Given the description of an element on the screen output the (x, y) to click on. 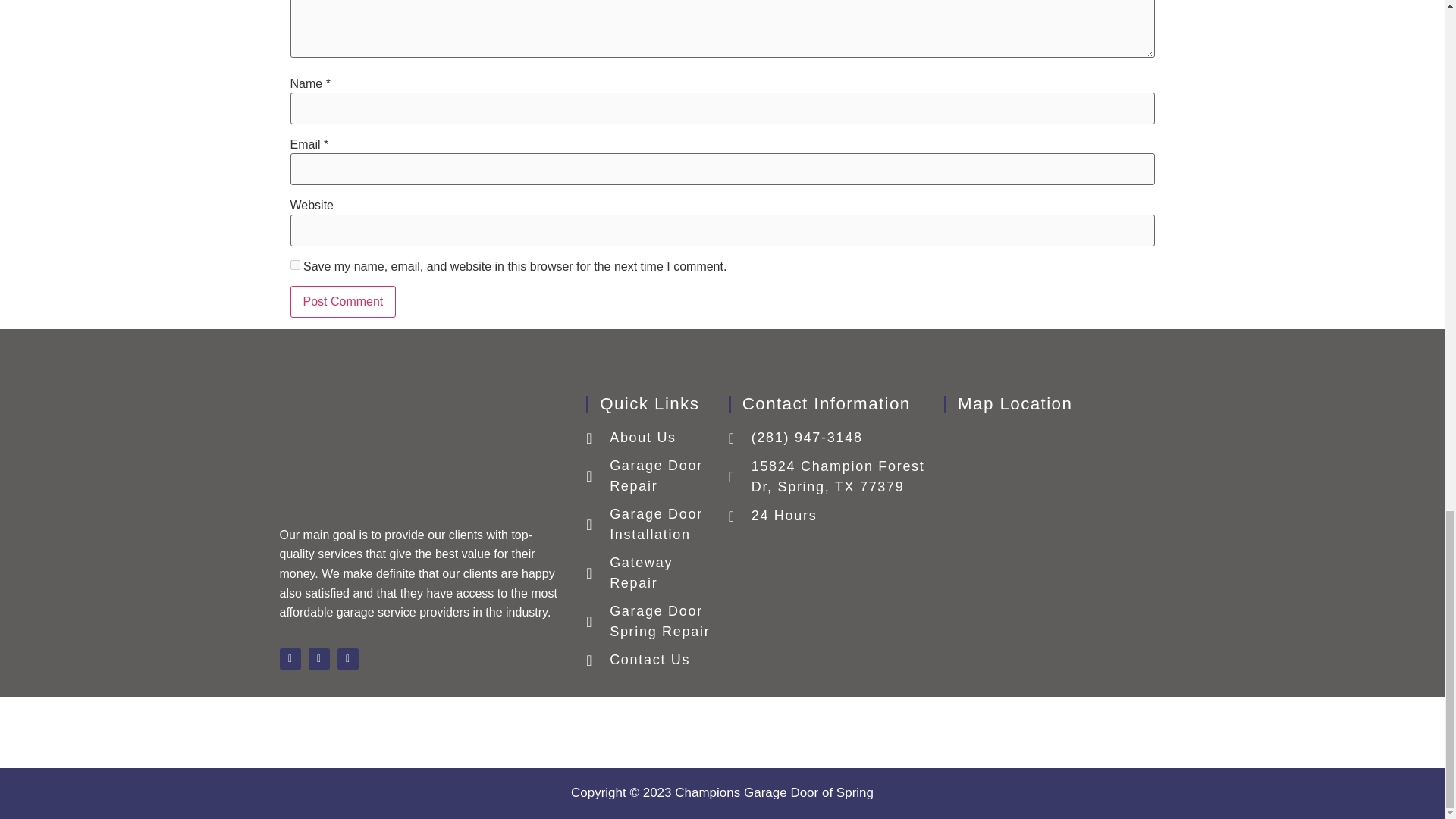
Post Comment (342, 301)
yes (294, 265)
Post Comment (342, 301)
15824 Champion Forest Dr, Spring, TX 77379 (828, 476)
